Given the description of an element on the screen output the (x, y) to click on. 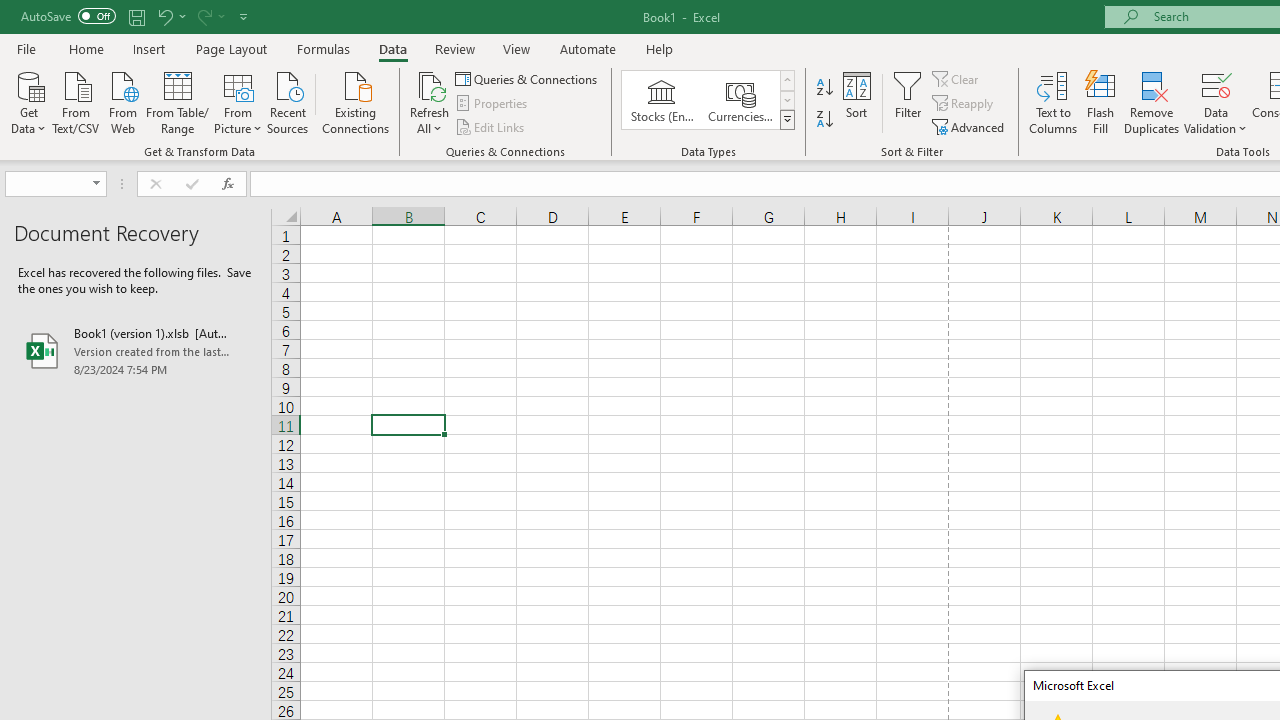
Get Data (28, 101)
From Text/CSV (75, 101)
Sort A to Z (824, 87)
Sort... (856, 102)
Currencies (English) (740, 100)
Redo (209, 15)
Review (454, 48)
View (517, 48)
From Picture (238, 101)
Redo (203, 15)
Undo (164, 15)
Undo (170, 15)
